Given the description of an element on the screen output the (x, y) to click on. 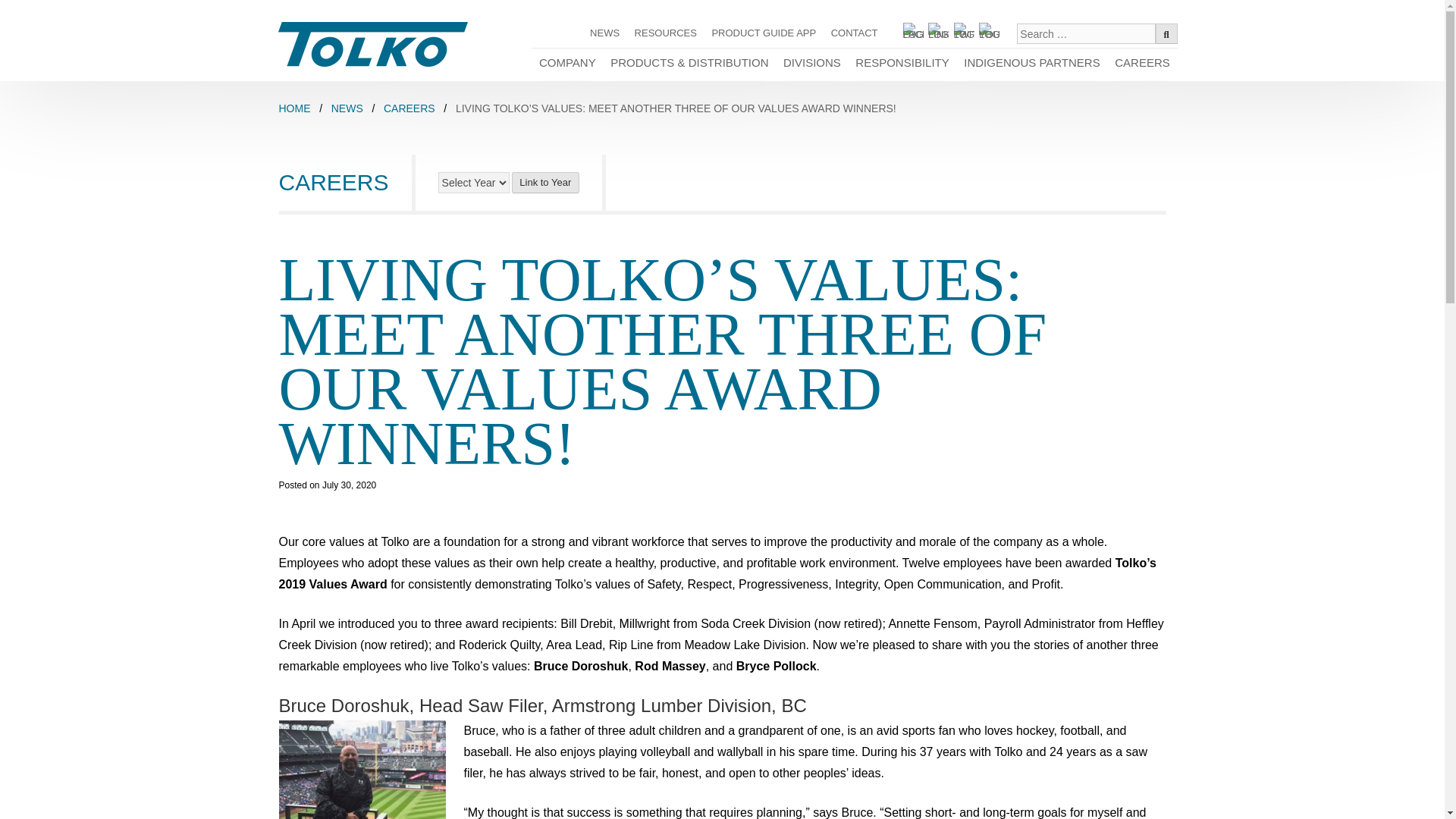
Link to Year (545, 182)
PRODUCT GUIDE APP (764, 32)
Search Submit (1166, 33)
COMPANY (566, 64)
CONTACT (854, 32)
NEWS (604, 32)
RESOURCES (665, 32)
